Given the description of an element on the screen output the (x, y) to click on. 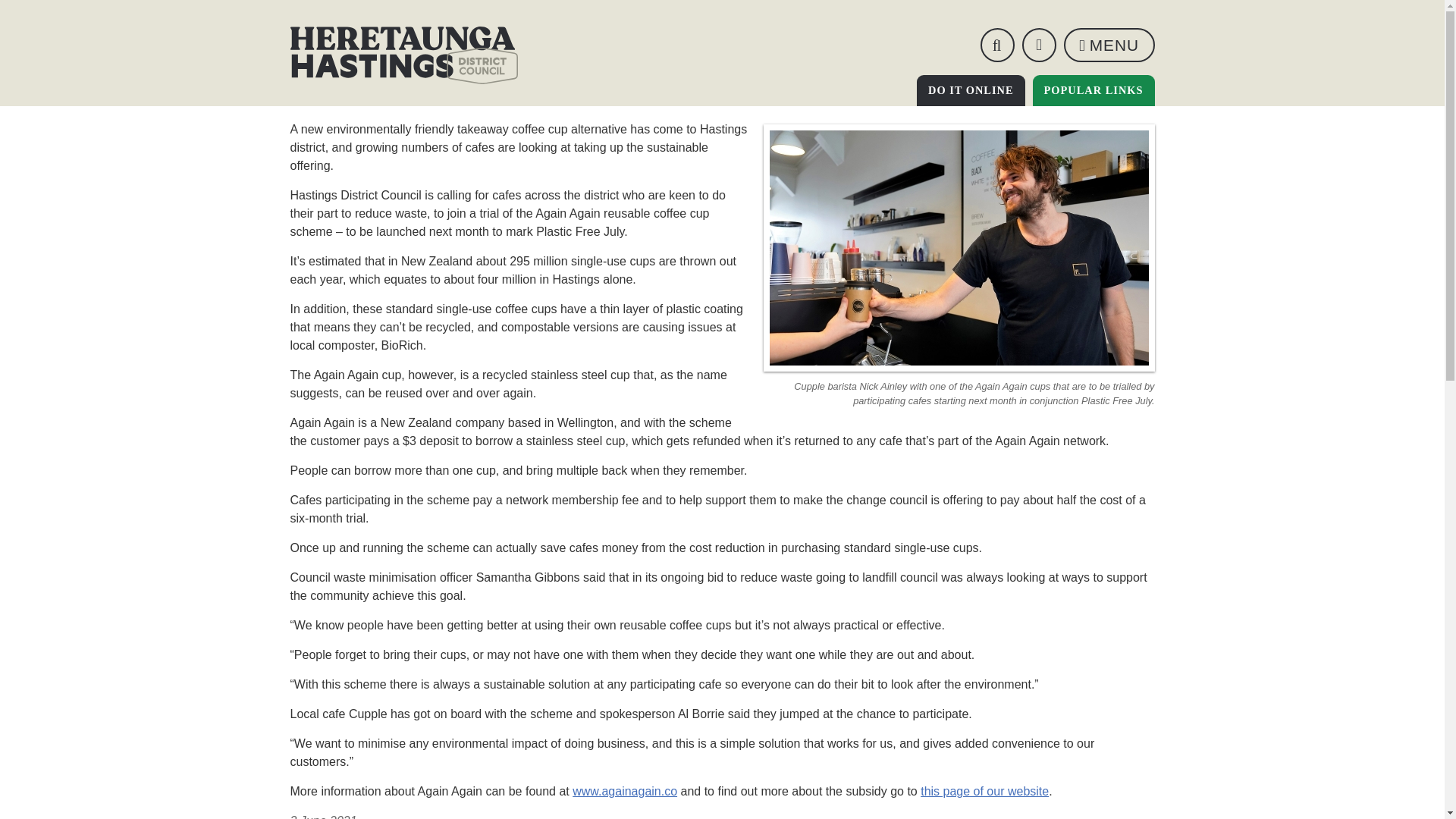
Contact us (1039, 44)
Open menu.  (1108, 44)
Do It Online (1108, 44)
POPULAR LINKS (971, 90)
Contact us.  (1093, 90)
Popular Links (1039, 44)
SEARCH THE WEBSITE (1093, 90)
Hastings District Council homepage.  (996, 44)
DO IT ONLINE (402, 55)
